Given the description of an element on the screen output the (x, y) to click on. 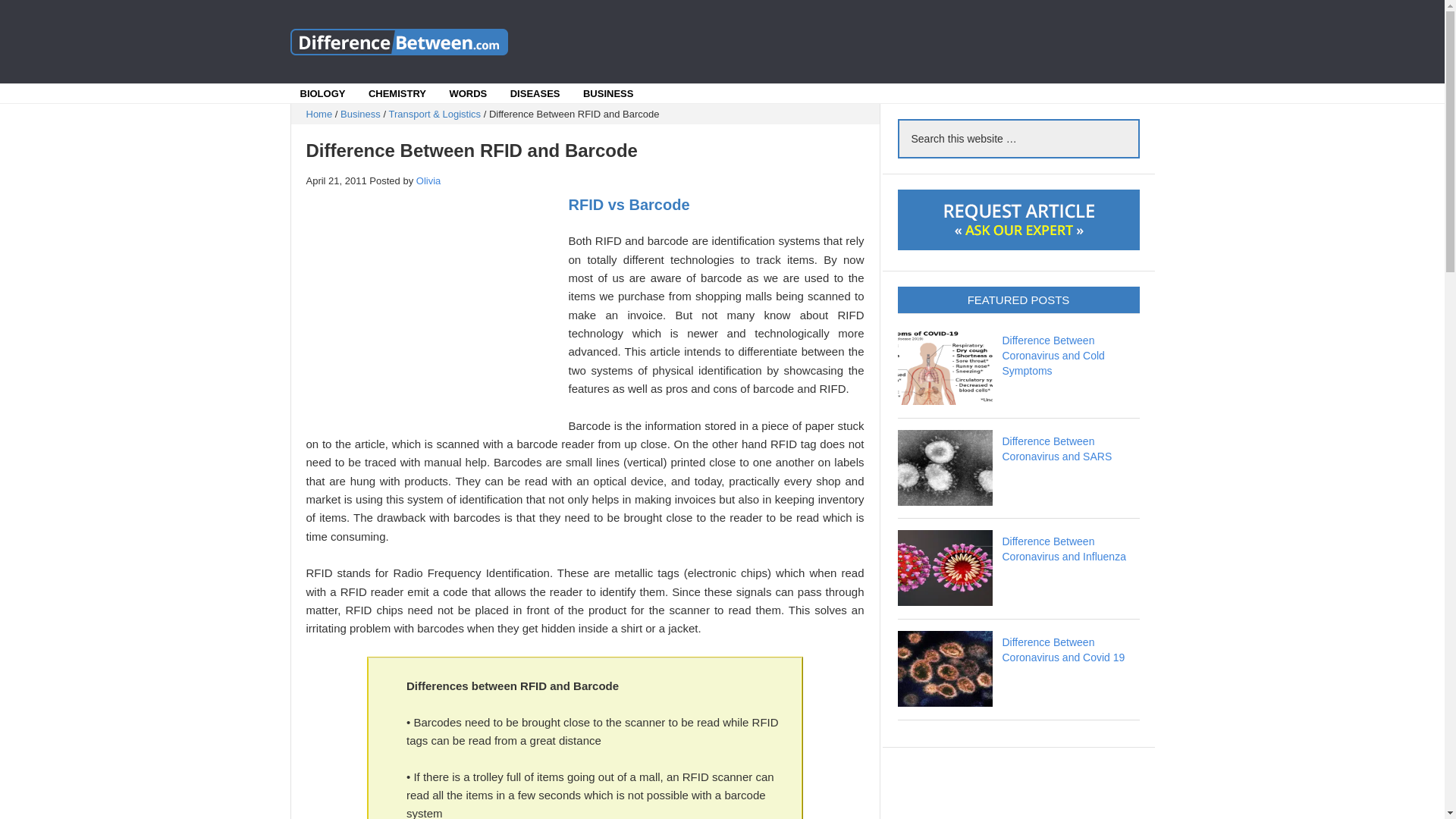
Difference Between Coronavirus and SARS (1057, 448)
Advertisement (850, 41)
WORDS (467, 93)
BUSINESS (607, 93)
Difference Between Coronavirus and Cold Symptoms (1054, 355)
Olivia (428, 180)
Advertisement (432, 305)
Compare the Difference Between Similar Terms (402, 41)
Home (319, 113)
DISEASES (534, 93)
BIOLOGY (323, 93)
Business (360, 113)
CHEMISTRY (397, 93)
